Given the description of an element on the screen output the (x, y) to click on. 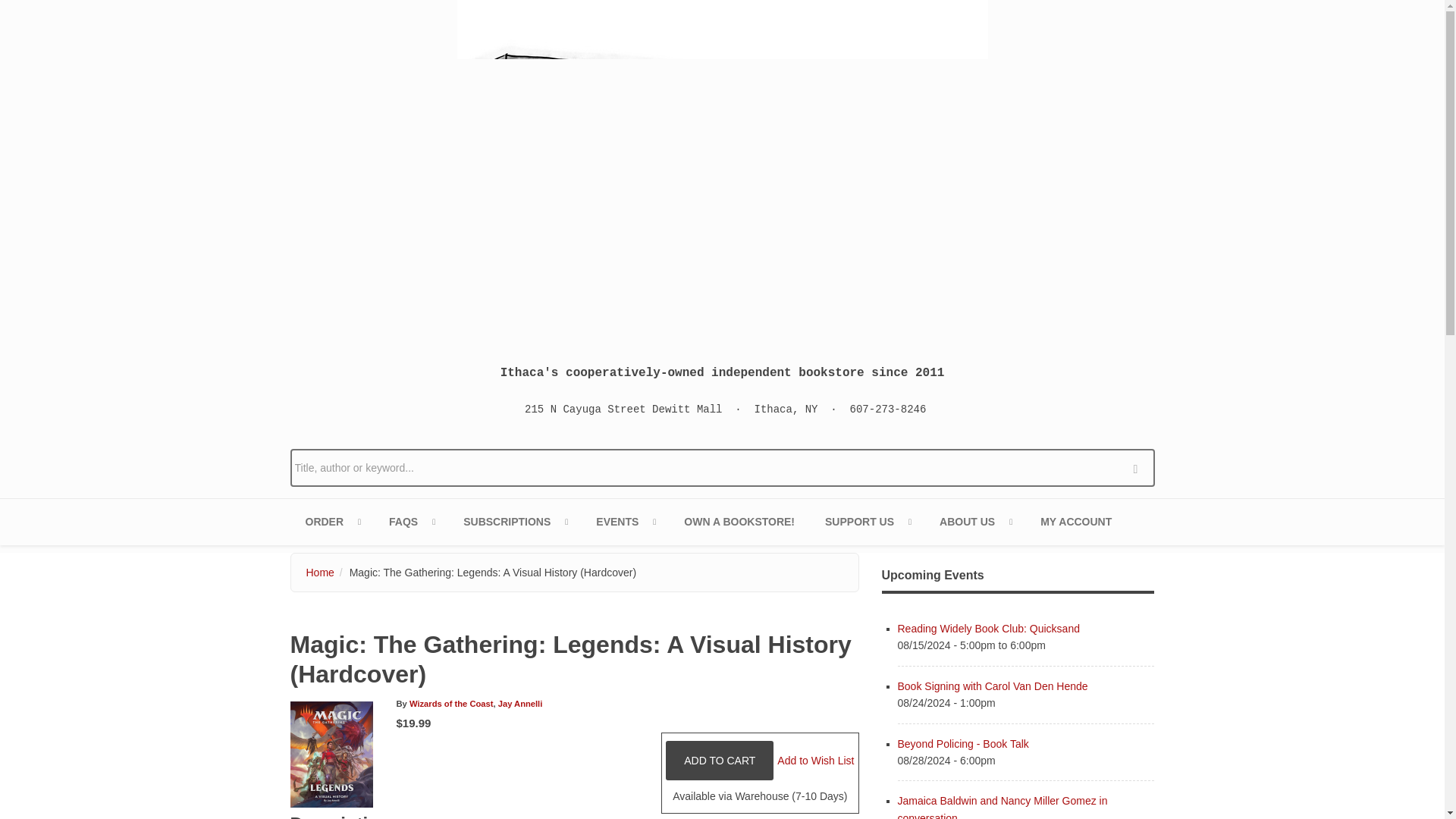
ORDER (331, 521)
EVENTS (624, 521)
ABOUT US (974, 521)
SUBSCRIPTIONS (514, 521)
Home (722, 169)
SUPPORT US (866, 521)
BSB First (514, 521)
FAQS (411, 521)
Add to Cart (719, 760)
